Given the description of an element on the screen output the (x, y) to click on. 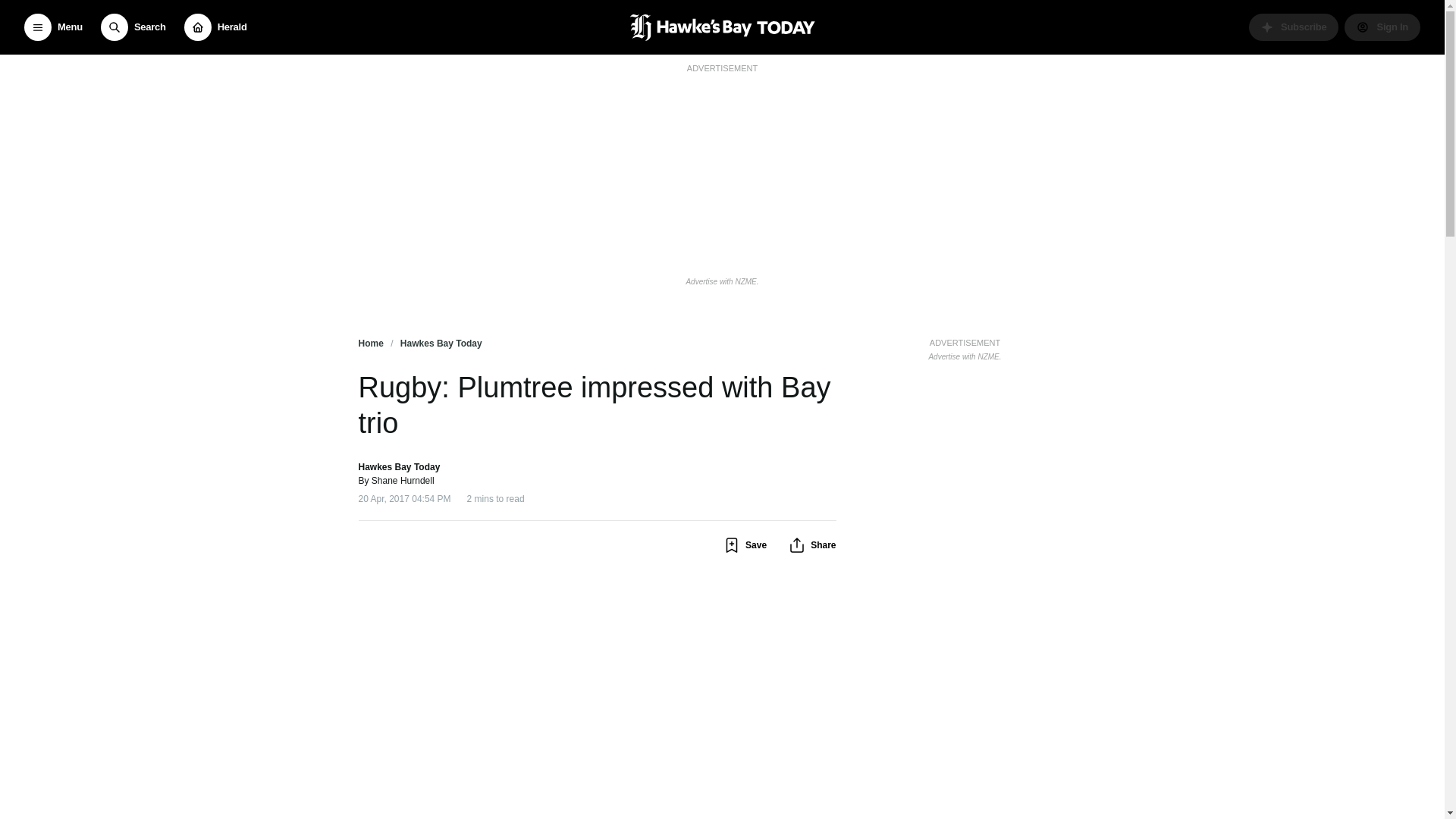
Save (744, 545)
Hawkes Bay Today (440, 343)
Herald (215, 26)
Search (132, 26)
Subscribe (1294, 26)
Advertise with NZME. (721, 281)
Manage your account (1382, 26)
Home (370, 343)
Sign In (1382, 26)
Menu (53, 26)
Share (811, 545)
